Given the description of an element on the screen output the (x, y) to click on. 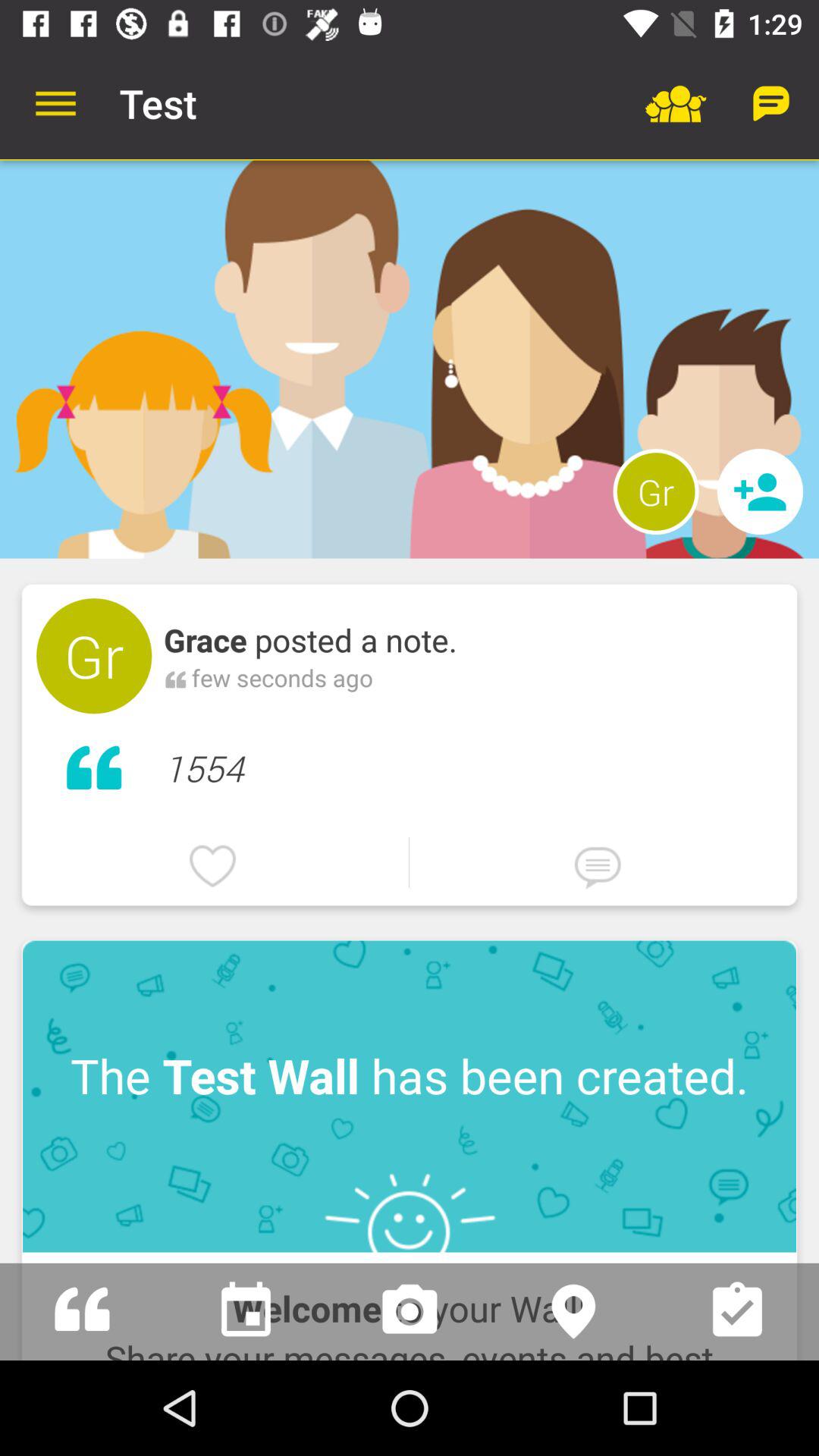
save this choice (737, 1311)
